Given the description of an element on the screen output the (x, y) to click on. 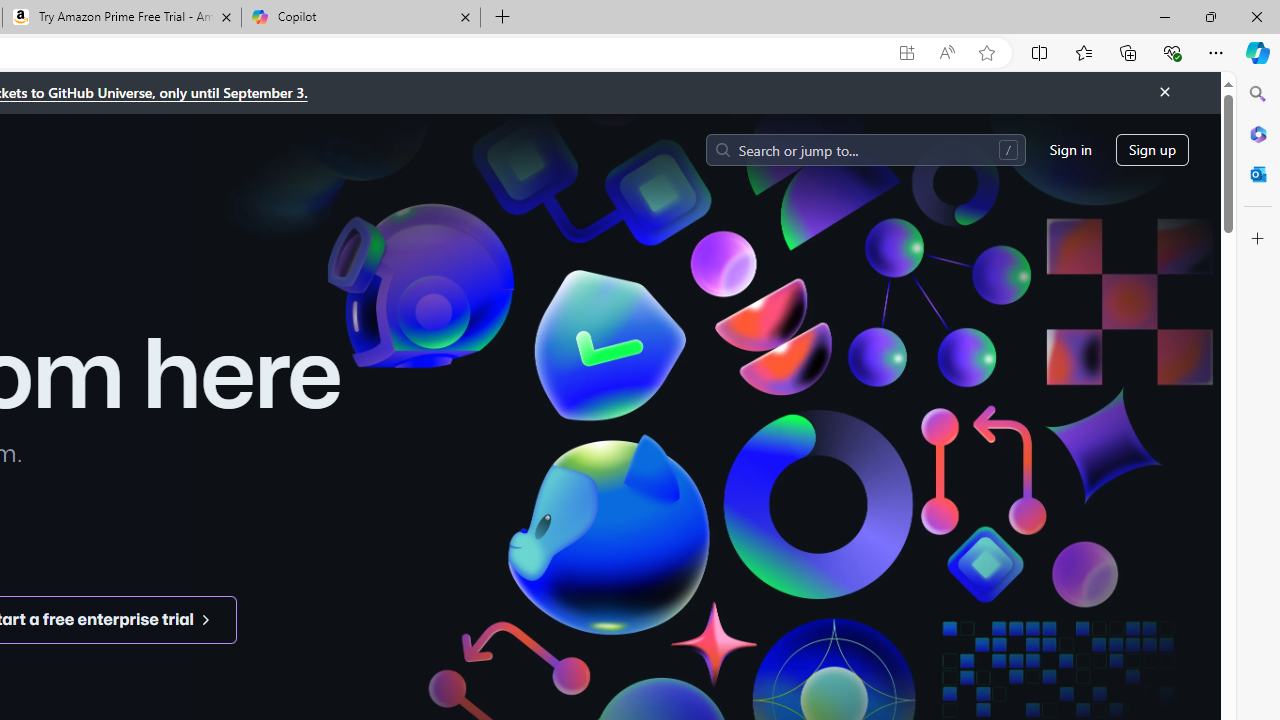
Sign in (1070, 149)
